Given the description of an element on the screen output the (x, y) to click on. 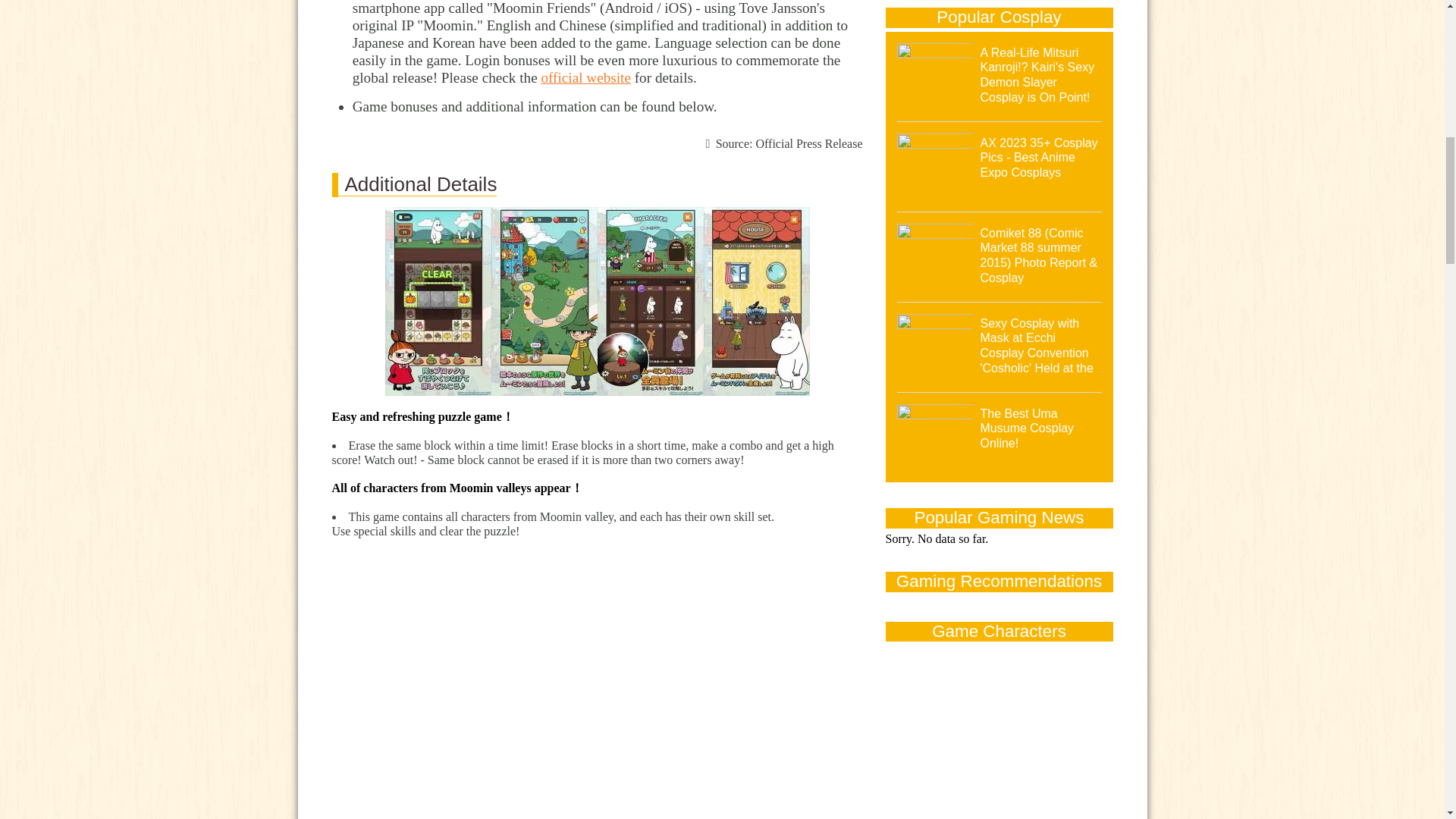
official website (585, 77)
The Best Uma Musume Cosplay Online! (1026, 428)
